Given the description of an element on the screen output the (x, y) to click on. 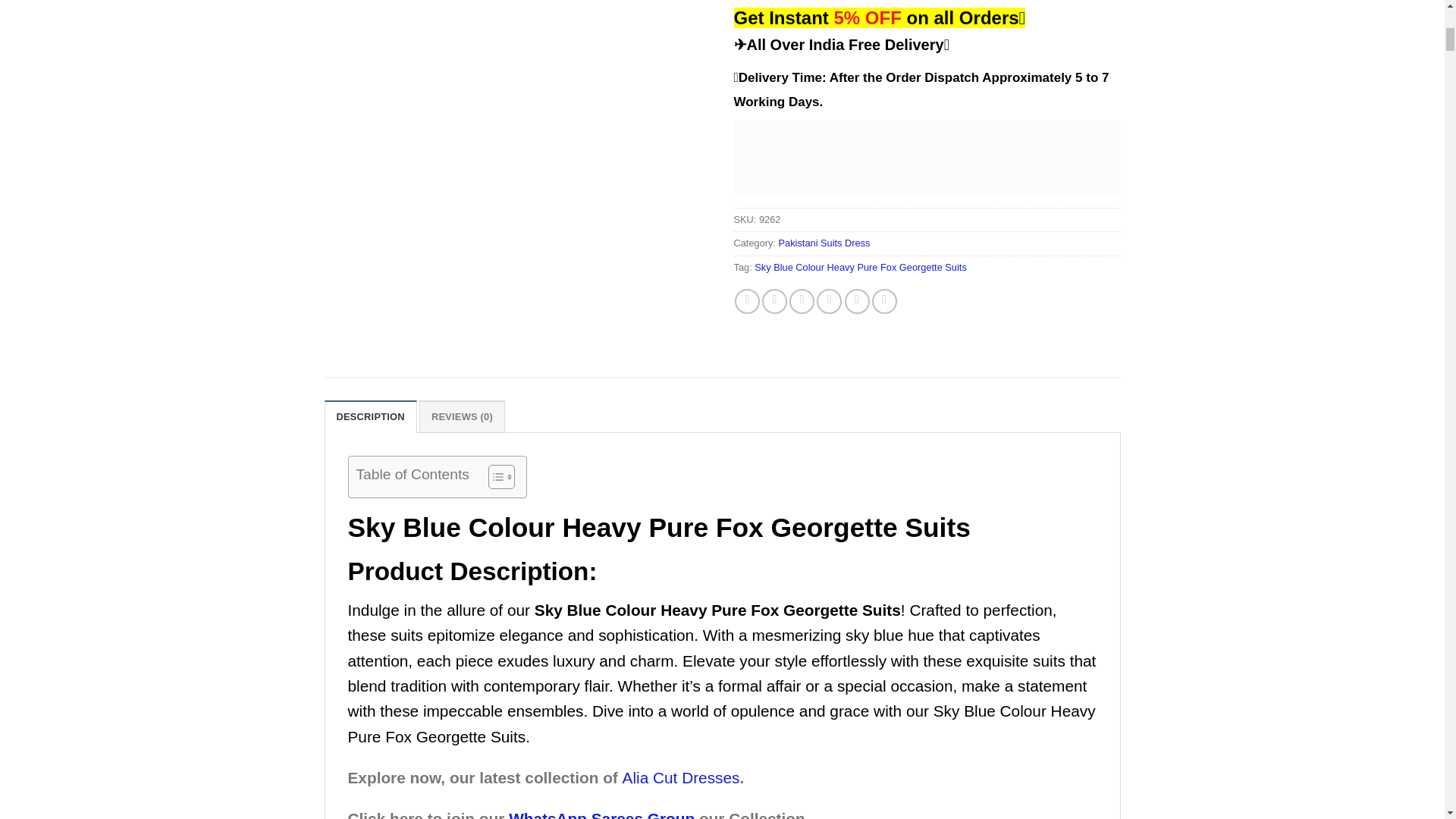
Share on LinkedIn (828, 301)
Pin on Pinterest (801, 301)
Share on Tumblr (856, 301)
Share on Facebook (747, 301)
Share on Twitter (774, 301)
